Given the description of an element on the screen output the (x, y) to click on. 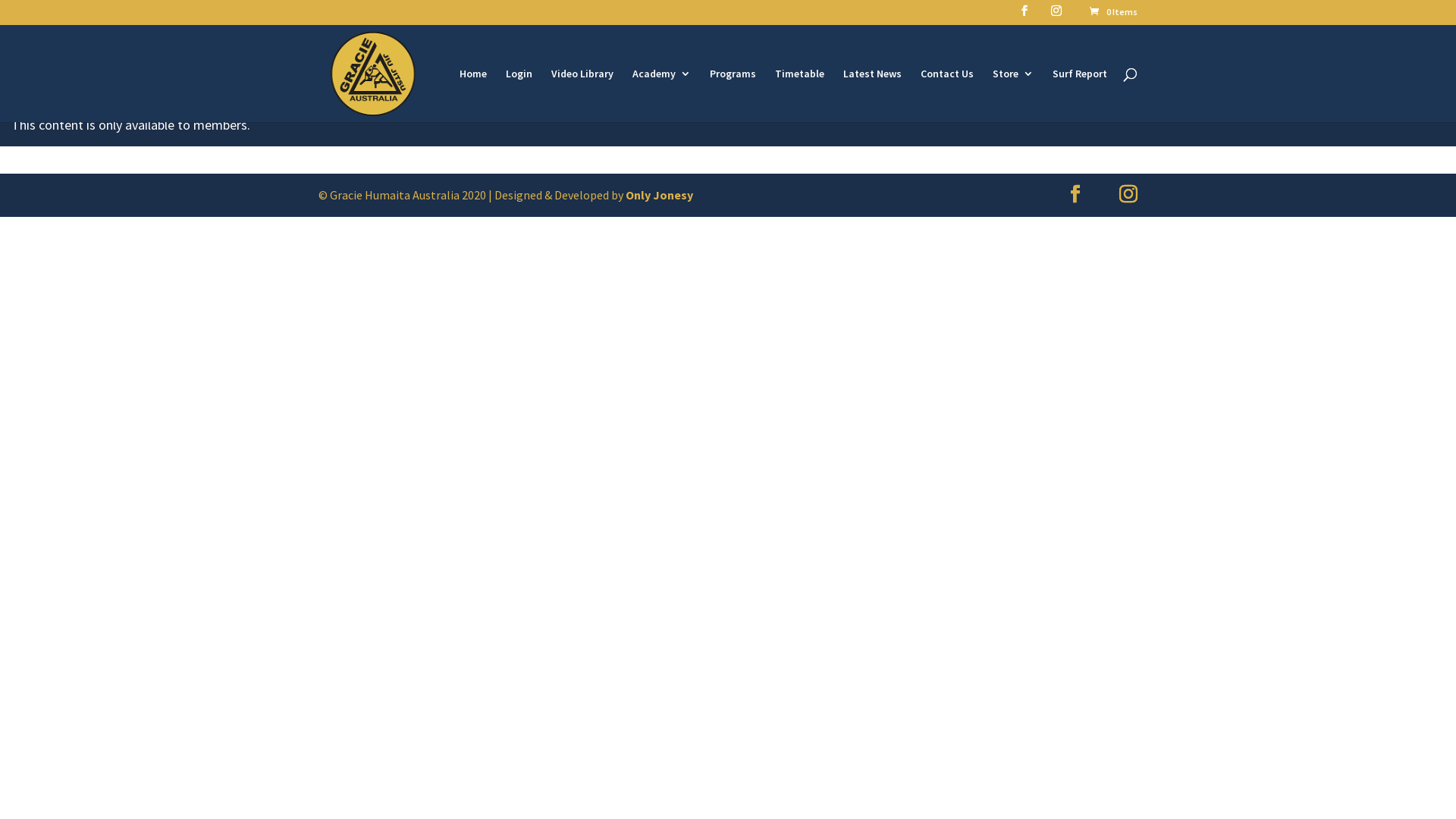
Timetable Element type: text (799, 95)
Store Element type: text (1012, 95)
Contact Us Element type: text (946, 95)
0 Items Element type: text (1112, 11)
Latest News Element type: text (872, 95)
Programs Element type: text (732, 95)
Only Jonesy Element type: text (659, 194)
Surf Report Element type: text (1079, 95)
Home Element type: text (472, 95)
Login Element type: text (518, 95)
Video Library Element type: text (582, 95)
Academy Element type: text (661, 95)
